Given the description of an element on the screen output the (x, y) to click on. 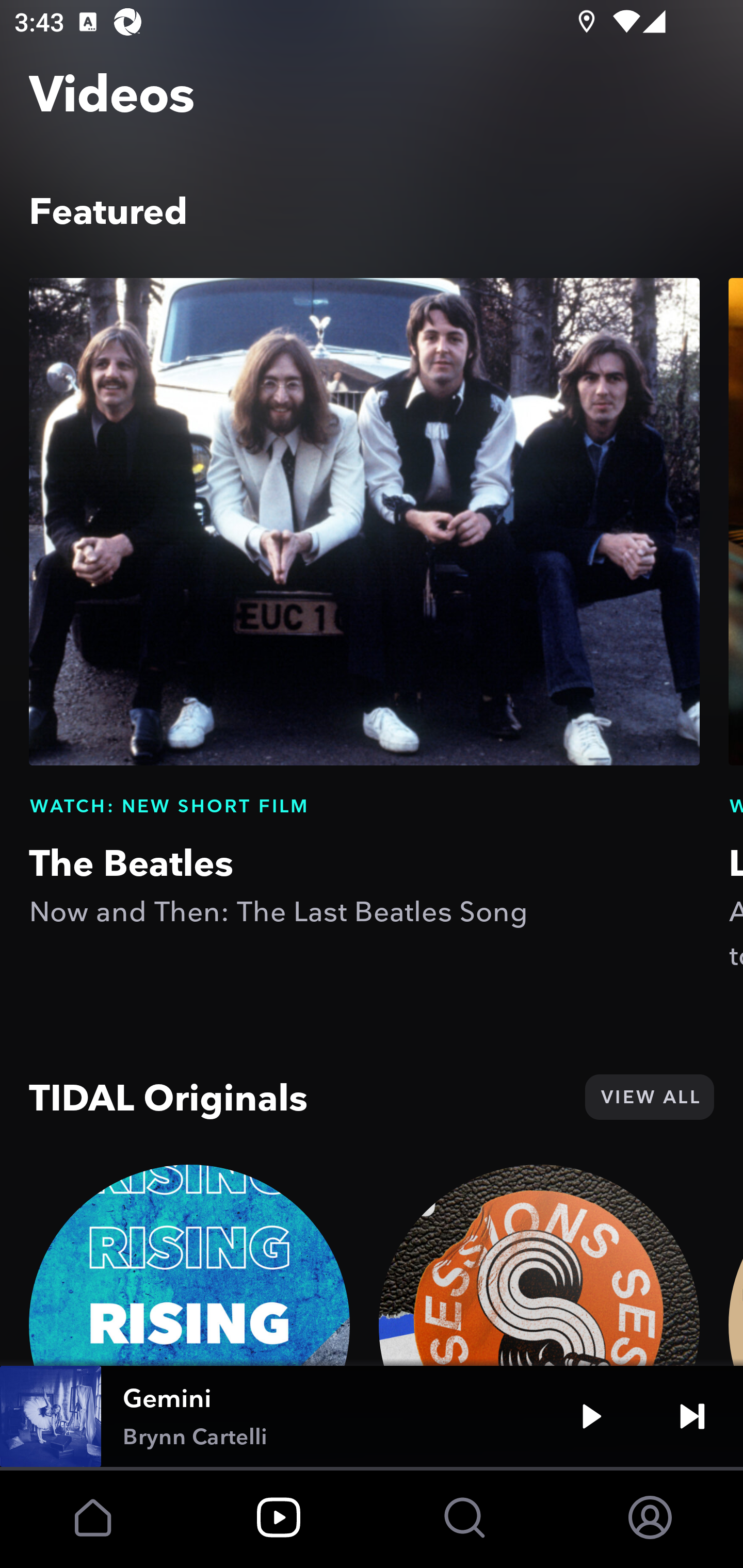
VIEW ALL (649, 1096)
Gemini Brynn Cartelli Play (371, 1416)
Play (590, 1416)
